Given the description of an element on the screen output the (x, y) to click on. 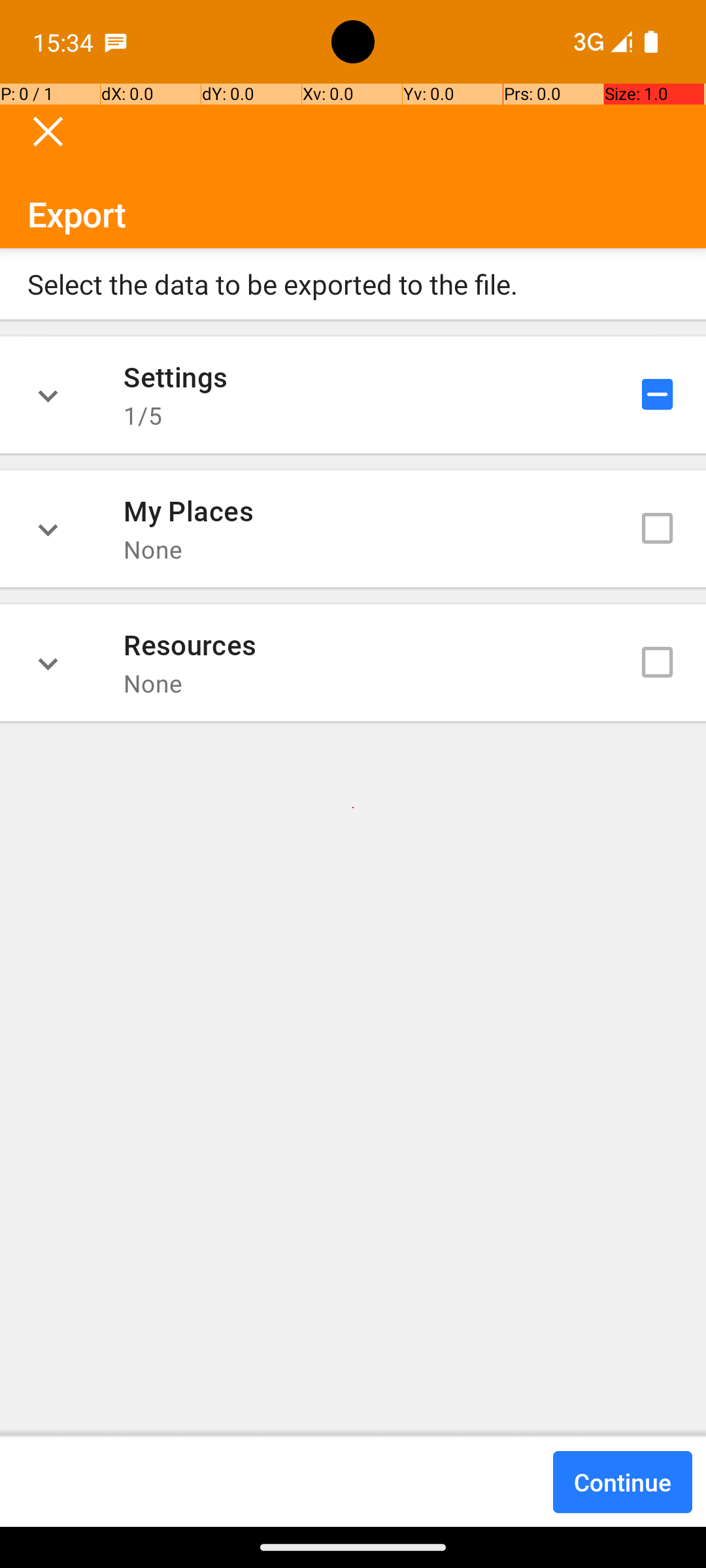
Map Element type: android.view.View (353, 763)
Export Element type: android.widget.FrameLayout (353, 165)
Continue Element type: android.widget.TextView (622, 1482)
Select the data to be exported to the file. Element type: android.widget.TextView (353, 283)
Collapsed list Element type: android.widget.ImageView (47, 394)
1/5 Element type: android.widget.TextView (142, 414)
My Places Element type: android.widget.TextView (188, 510)
Resources Element type: android.widget.TextView (189, 644)
